Given the description of an element on the screen output the (x, y) to click on. 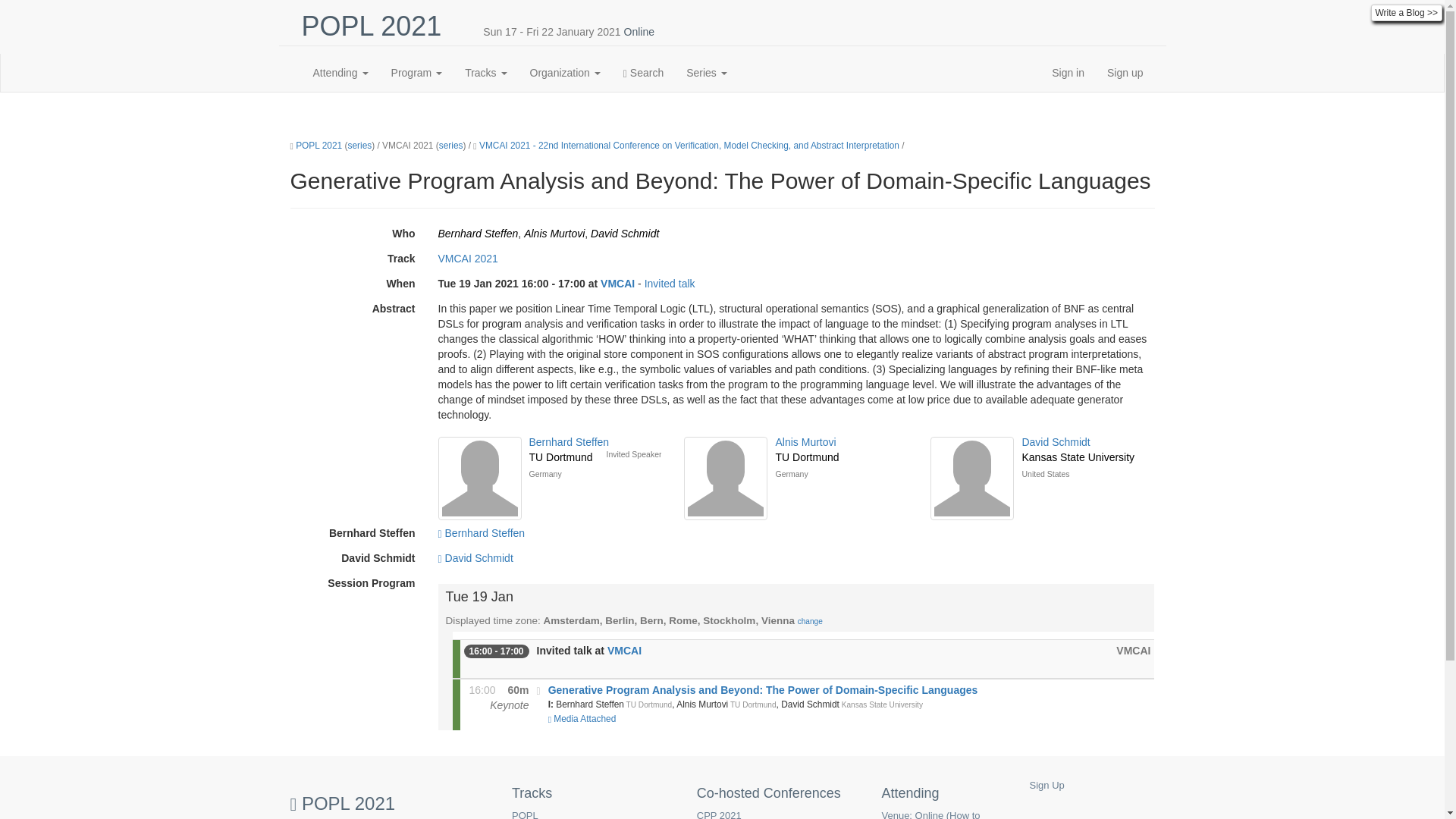
Tracks (485, 72)
Organization (564, 72)
POPL 2021 (370, 26)
Program (417, 72)
Attending (340, 72)
Online (638, 31)
